Given the description of an element on the screen output the (x, y) to click on. 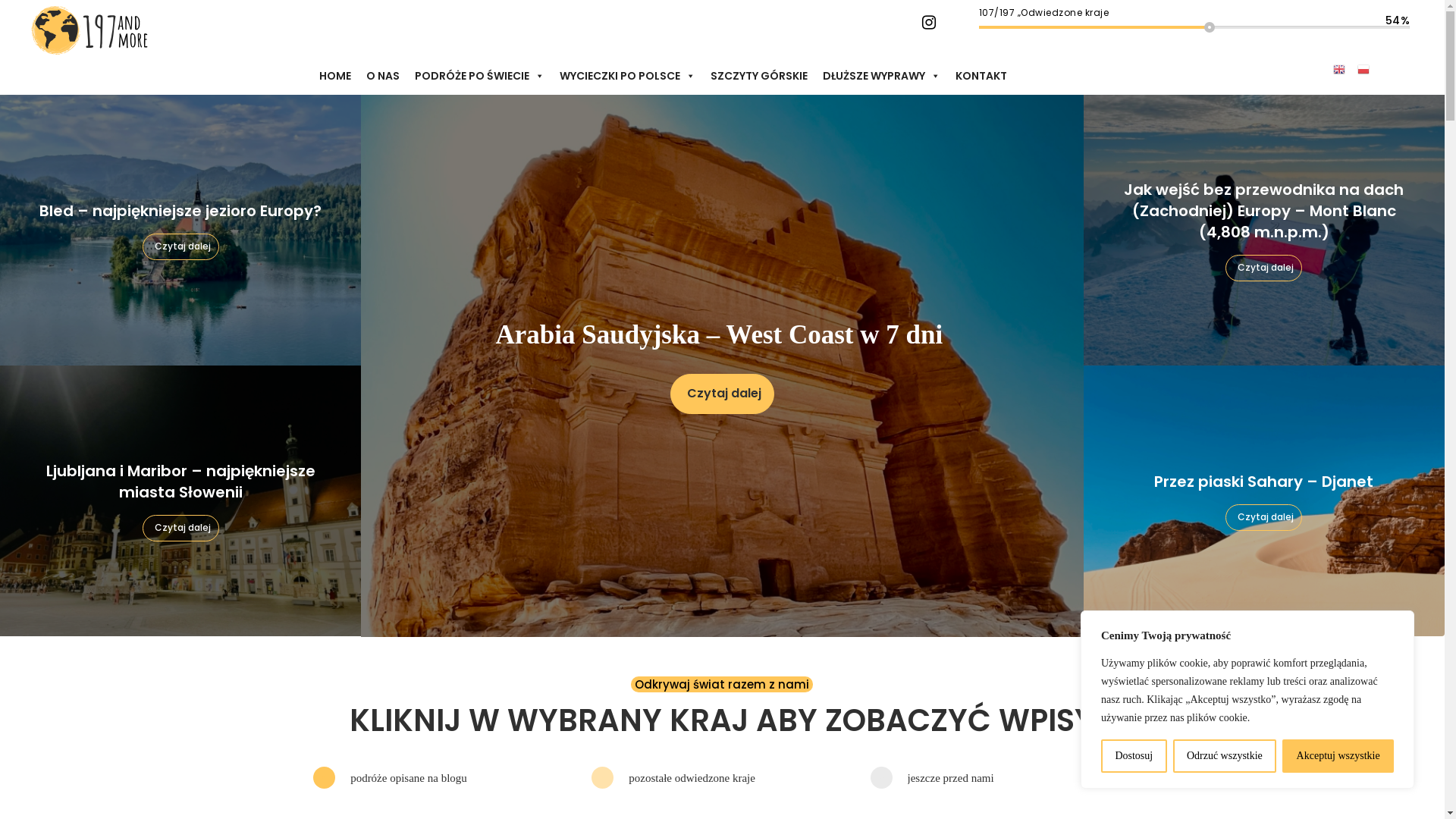
Czytaj dalej Element type: text (1263, 267)
WYCIECZKI PO POLSCE Element type: text (627, 75)
Czytaj dalej Element type: text (1263, 517)
IMG_1414 Element type: hover (721, 365)
English Element type: hover (1339, 68)
O NAS Element type: text (382, 75)
IMG_8658-1 Element type: hover (180, 229)
IMG_8953 Element type: hover (1263, 229)
IMG_8560 Element type: hover (180, 500)
Dostosuj Element type: text (1134, 755)
KONTAKT Element type: text (980, 75)
Akceptuj wszystkie Element type: text (1337, 755)
Czytaj dalej Element type: text (722, 393)
HOME Element type: text (334, 75)
Czytaj dalej Element type: text (180, 246)
Polish Element type: hover (1363, 68)
Czytaj dalej Element type: text (180, 527)
IMG_5950 Element type: hover (1263, 500)
